Given the description of an element on the screen output the (x, y) to click on. 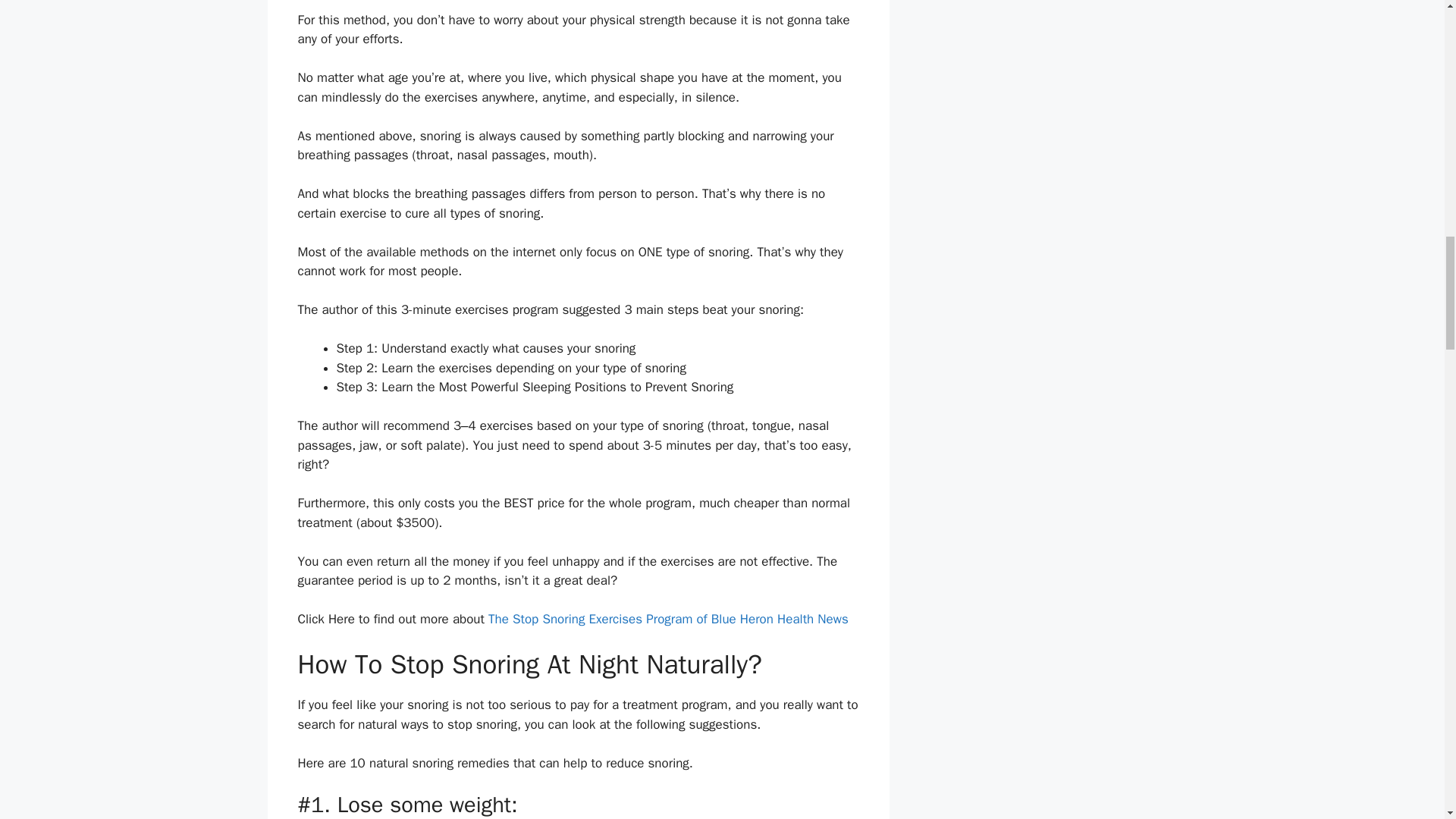
The Stop Snoring Exercises Program of Blue Heron Health News (667, 618)
